Given the description of an element on the screen output the (x, y) to click on. 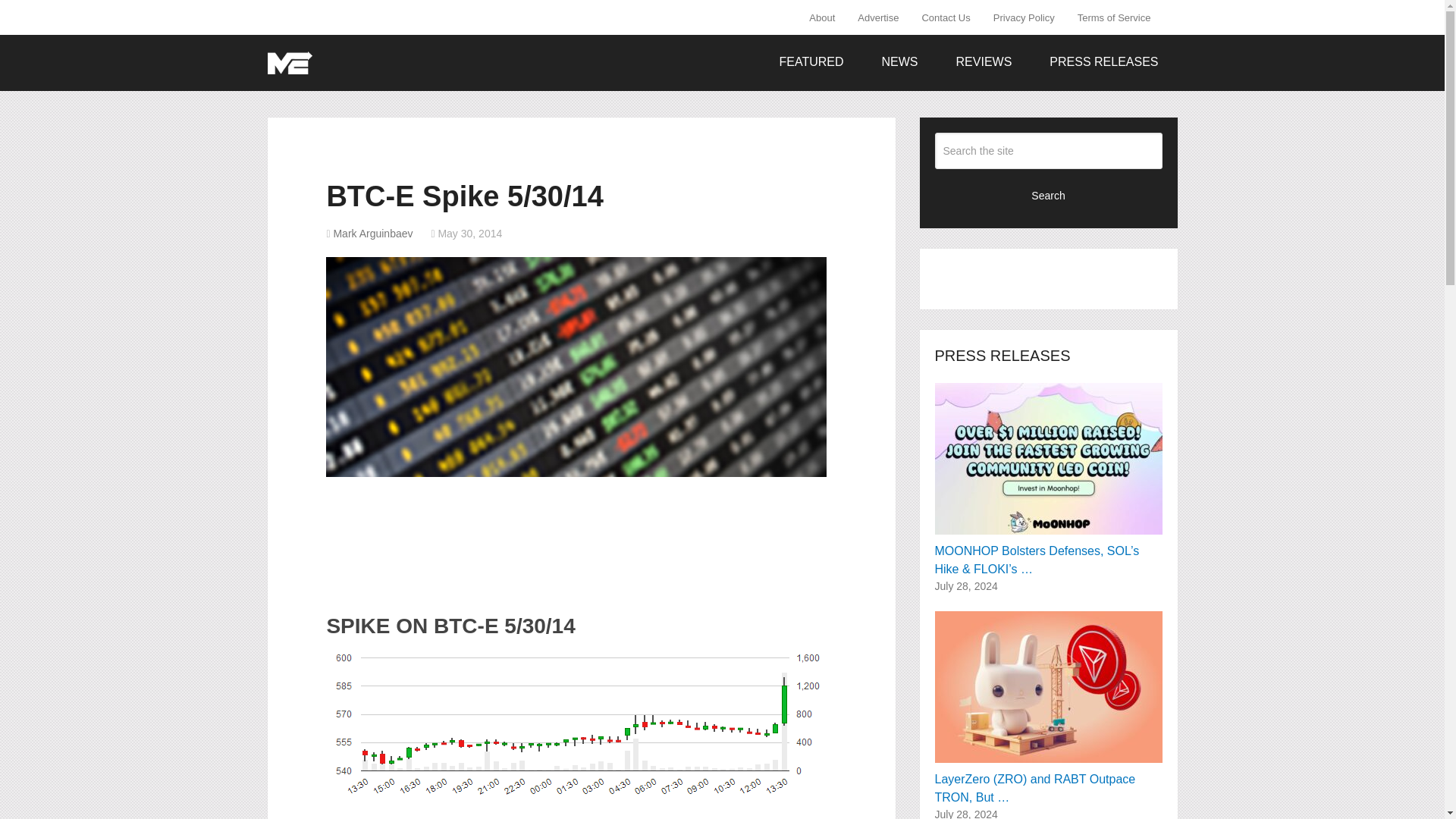
NEWS (900, 62)
FEATURED (810, 62)
About (827, 17)
Terms of Service (1113, 17)
Privacy Policy (1023, 17)
Advertise (877, 17)
Search (1047, 194)
REVIEWS (983, 62)
PRESS RELEASES (1103, 62)
Posts by Mark Arguinbaev (372, 233)
Contact Us (945, 17)
Mark Arguinbaev (372, 233)
